Given the description of an element on the screen output the (x, y) to click on. 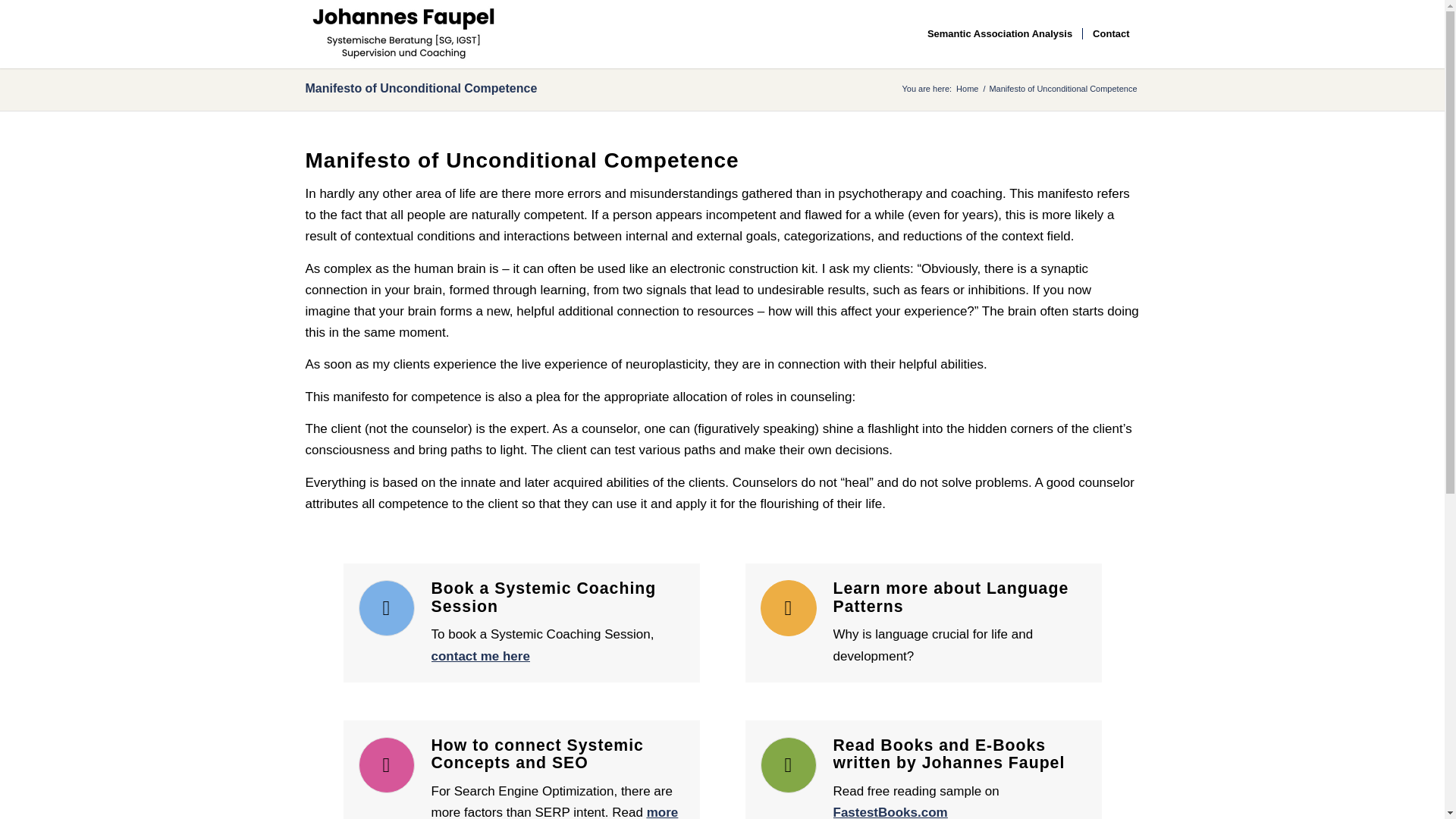
contact me here (479, 656)
Self-Help Books and e-books written by Johannes Faupel (889, 812)
Permanent Link: Manifesto of Unconditional Competence (420, 88)
Manifesto of Unconditional Competence (420, 88)
more about Semantic Association Analysis (554, 812)
Contact (1109, 33)
Semantic Association Analysis (999, 33)
FastestBooks.com (889, 812)
Home (966, 89)
Johannes Faupel Systemische Beratung Supervision Coaching (401, 33)
